Given the description of an element on the screen output the (x, y) to click on. 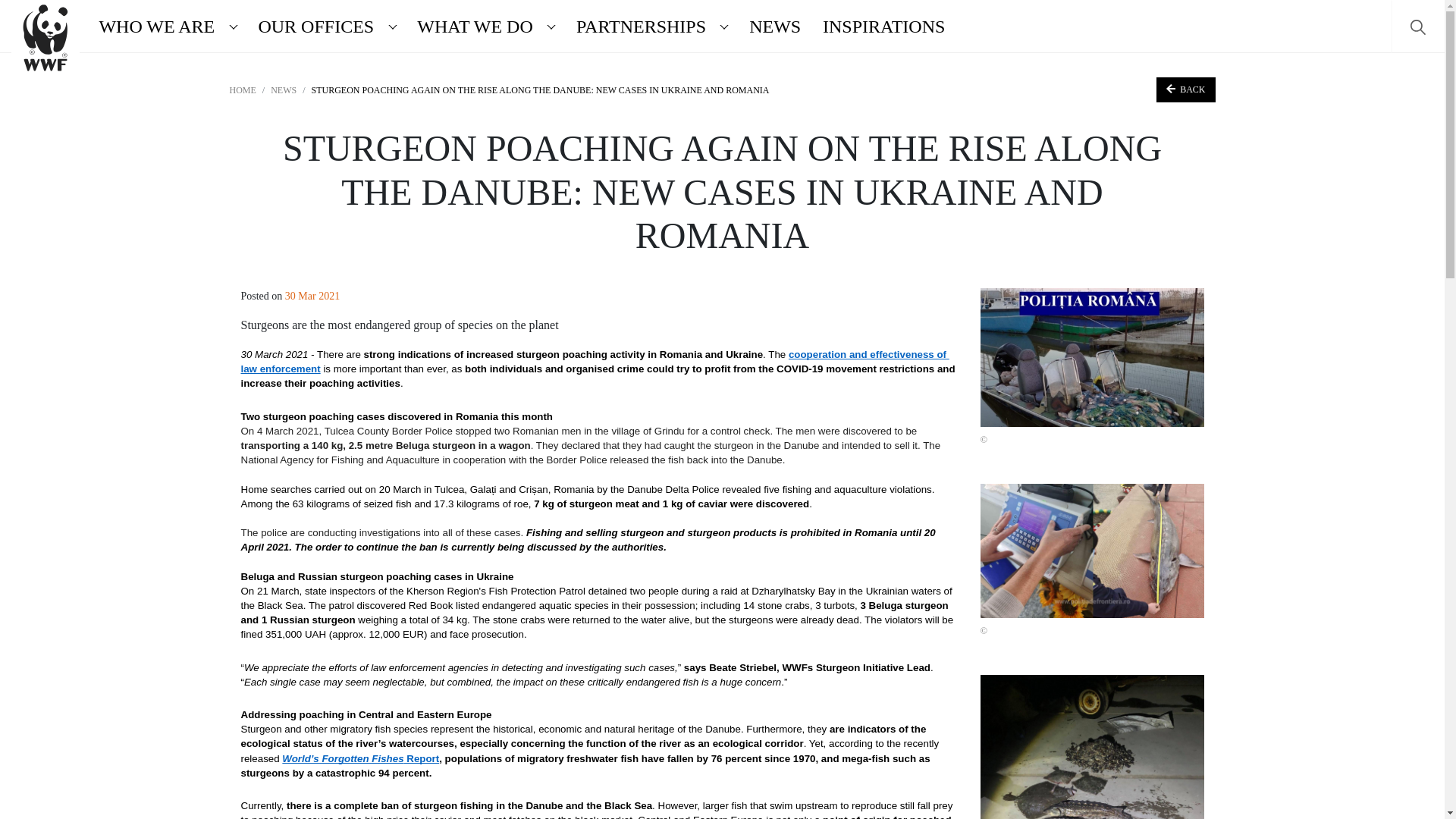
WHO WE ARE (153, 26)
BACK (1185, 89)
WHAT WE DO (471, 26)
What We Do (471, 26)
cooperation and effectiveness of law enforcement (595, 360)
NEWS (283, 90)
NEWS (775, 26)
Who We Are (153, 26)
PARTNERSHIPS (638, 26)
INSPIRATIONS (884, 26)
HOME (242, 90)
Our Offices (312, 26)
OUR OFFICES (312, 26)
